Given the description of an element on the screen output the (x, y) to click on. 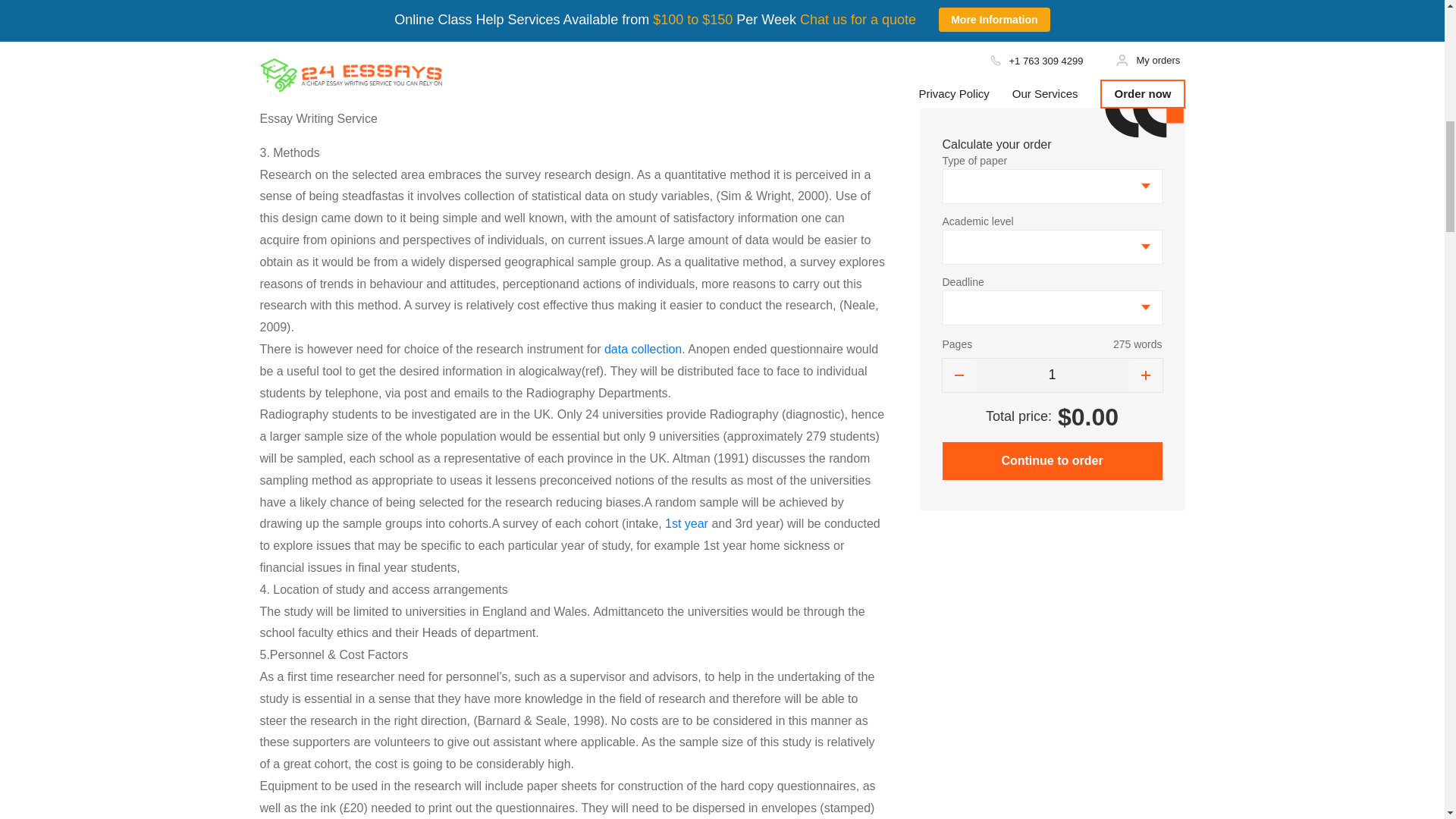
1st year (686, 522)
data collection (642, 349)
GET HIGH-QUALITY PAPER (572, 3)
